Given the description of an element on the screen output the (x, y) to click on. 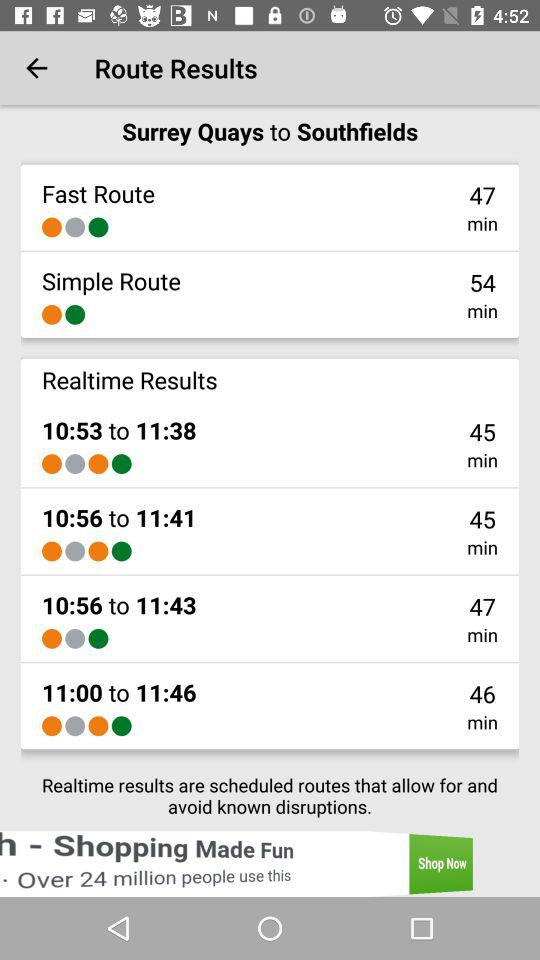
tap the icon below the 10 56 to icon (51, 638)
